Given the description of an element on the screen output the (x, y) to click on. 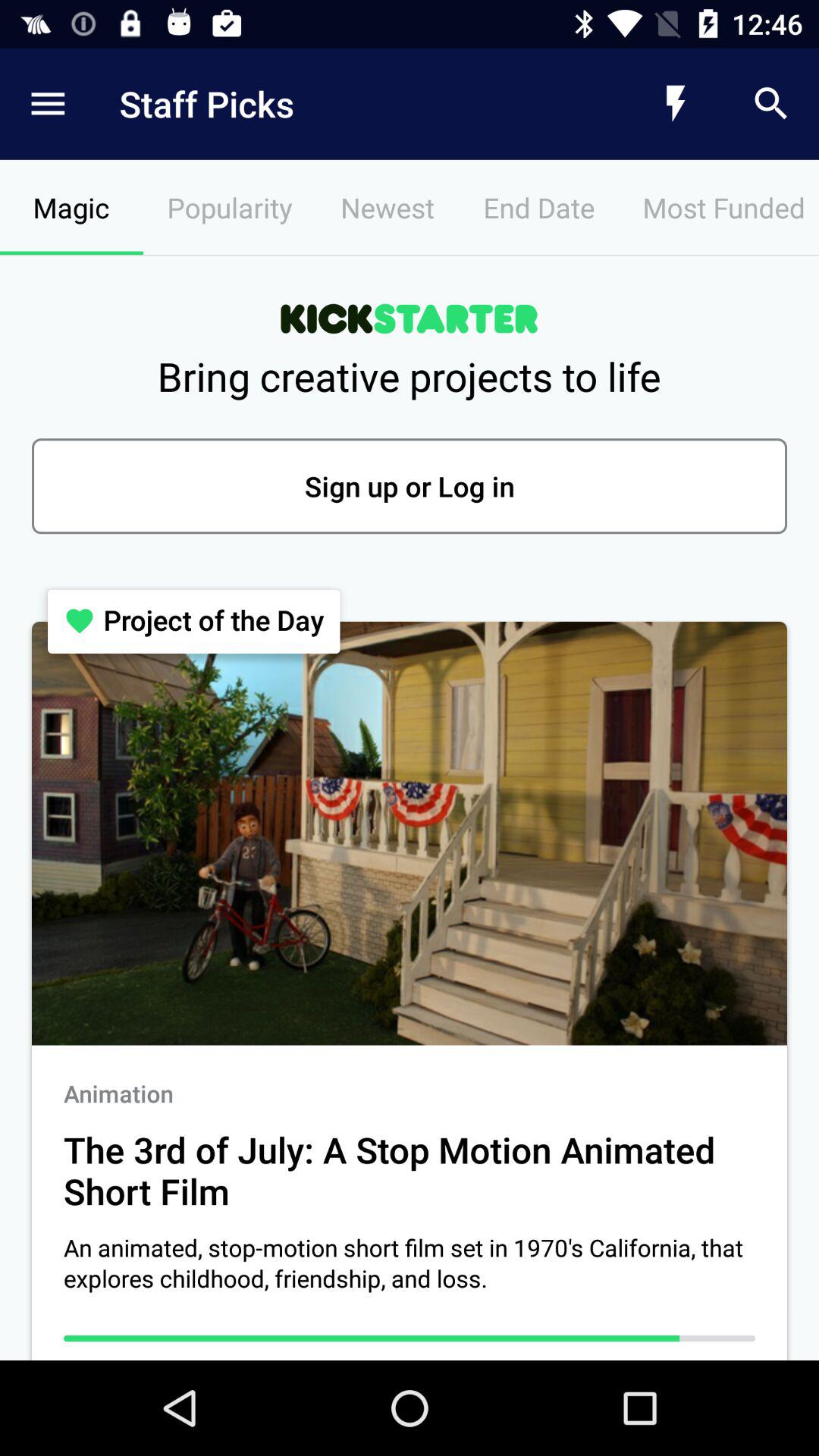
select the icon above the most funded icon (675, 103)
